Given the description of an element on the screen output the (x, y) to click on. 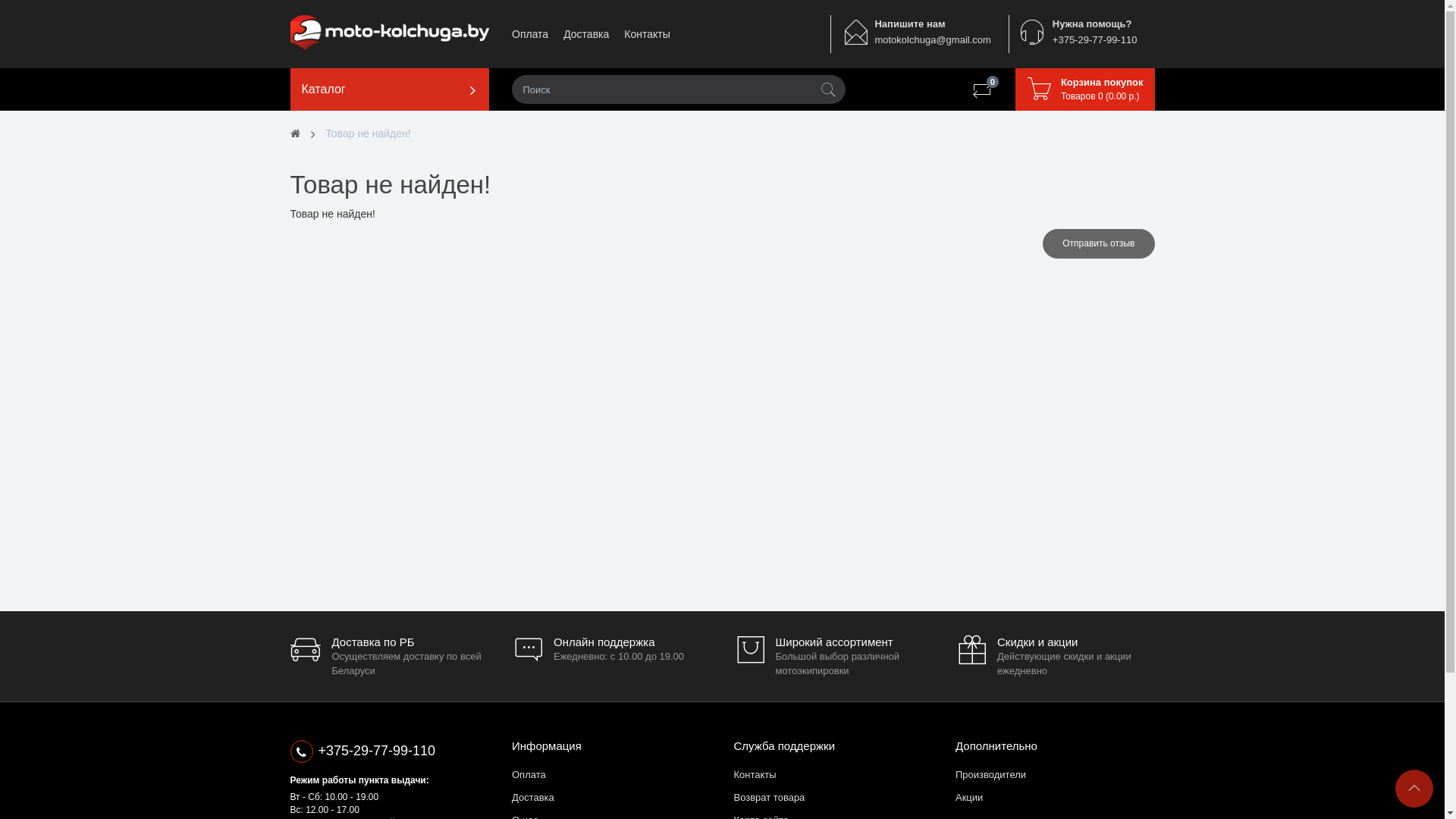
motokolchuga@gmail.com Element type: text (932, 39)
0 Element type: text (982, 89)
+375-29-77-99-110 Element type: text (389, 751)
moto-kolchuga.by Element type: hover (389, 32)
+375-29-77-99-110 Element type: text (1094, 39)
